Given the description of an element on the screen output the (x, y) to click on. 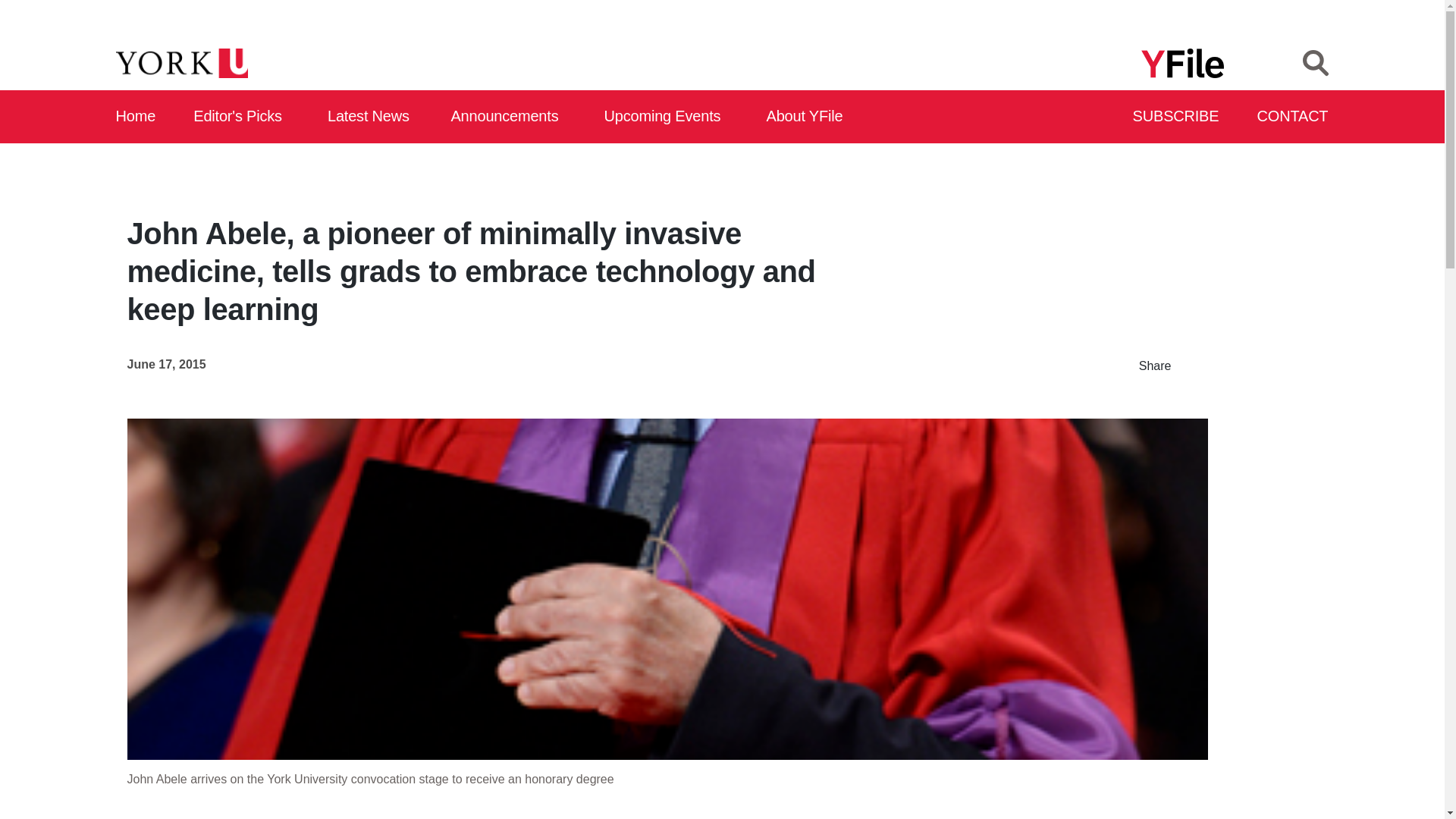
Home (136, 116)
Upcoming Events (667, 116)
SUBSCRIBE (1176, 116)
Announcements (508, 116)
Editor's Picks (242, 116)
Subscribe (1176, 116)
About YFile (806, 116)
Announcements (508, 116)
Upcoming Events (667, 116)
Editor's Picks (242, 116)
Latest News (370, 116)
Contact (1293, 116)
CONTACT (1293, 116)
Latest News (370, 116)
About YFile (806, 116)
